Given the description of an element on the screen output the (x, y) to click on. 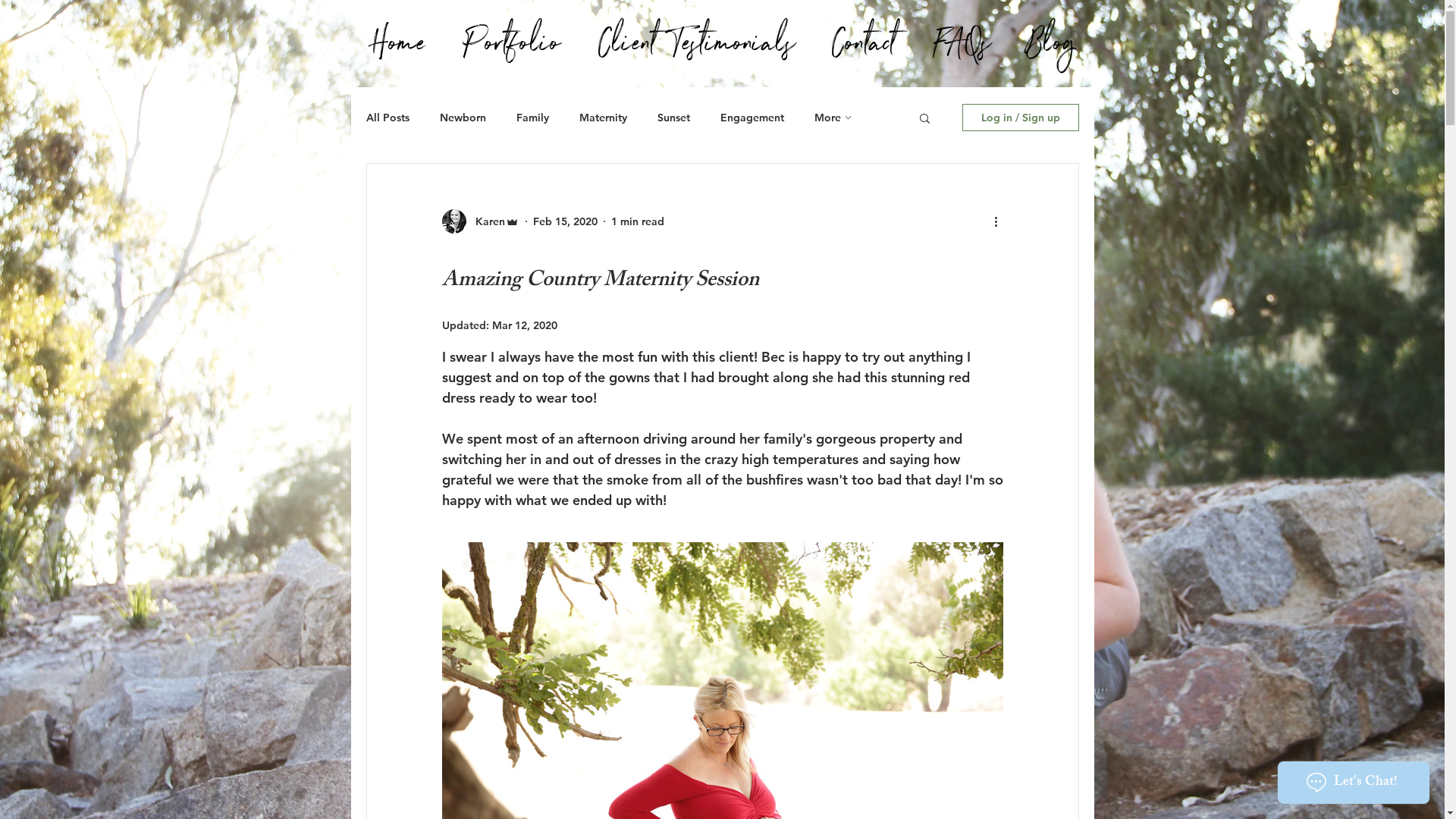
Log in / Sign up Element type: text (1019, 117)
Family Element type: text (531, 117)
Client Testimonials Element type: text (696, 41)
Engagement Element type: text (752, 117)
Blog Element type: text (1050, 41)
Maternity Element type: text (603, 117)
Sunset Element type: text (672, 117)
Newborn Element type: text (462, 117)
Portfolio Element type: text (511, 41)
FAQs Element type: text (961, 41)
Contact Element type: text (863, 41)
All Posts Element type: text (386, 117)
Home Element type: text (397, 41)
